Given the description of an element on the screen output the (x, y) to click on. 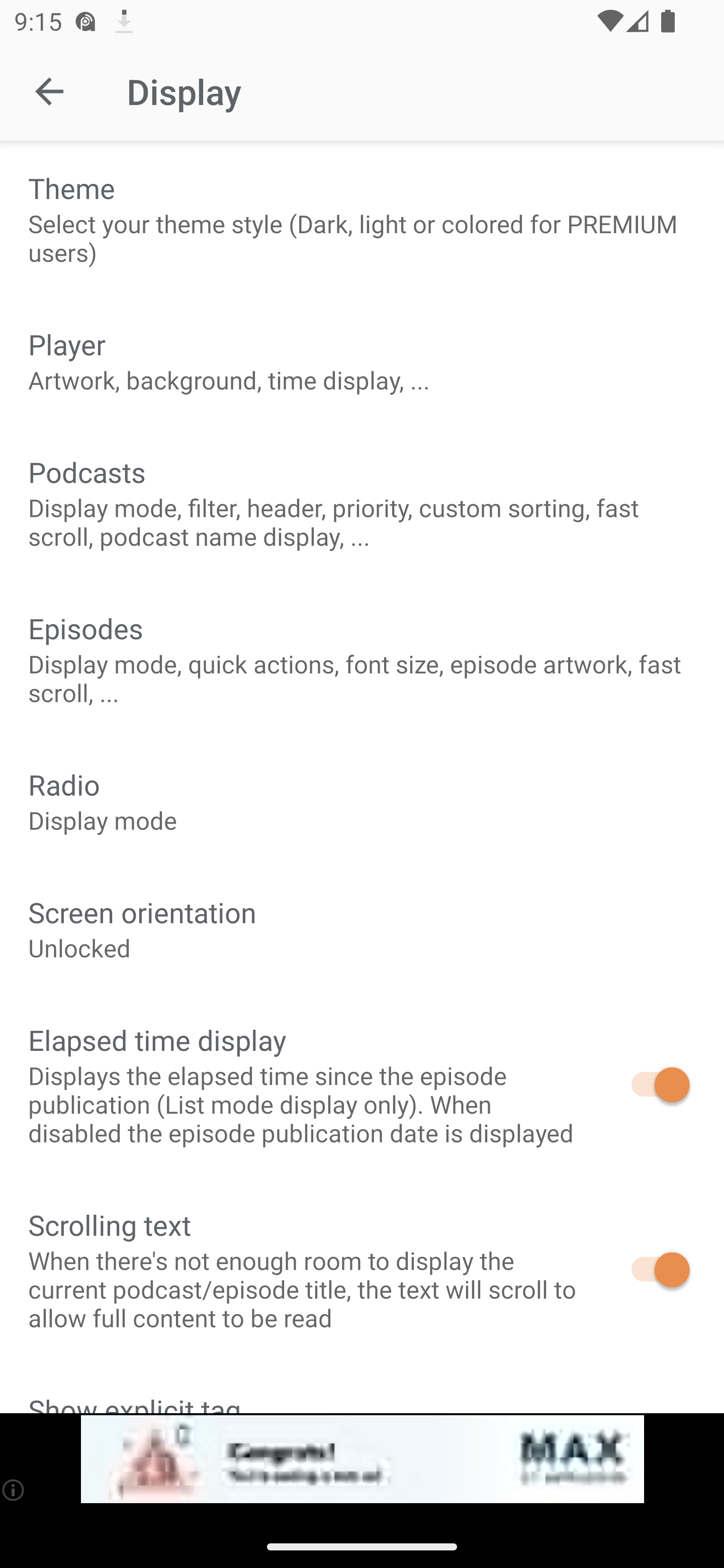
Navigate up (49, 91)
Player Artwork, background, time display, ... (362, 360)
Radio Display mode (362, 800)
Screen orientation Unlocked (362, 928)
app-monetization (362, 1459)
(i) (14, 1489)
